Given the description of an element on the screen output the (x, y) to click on. 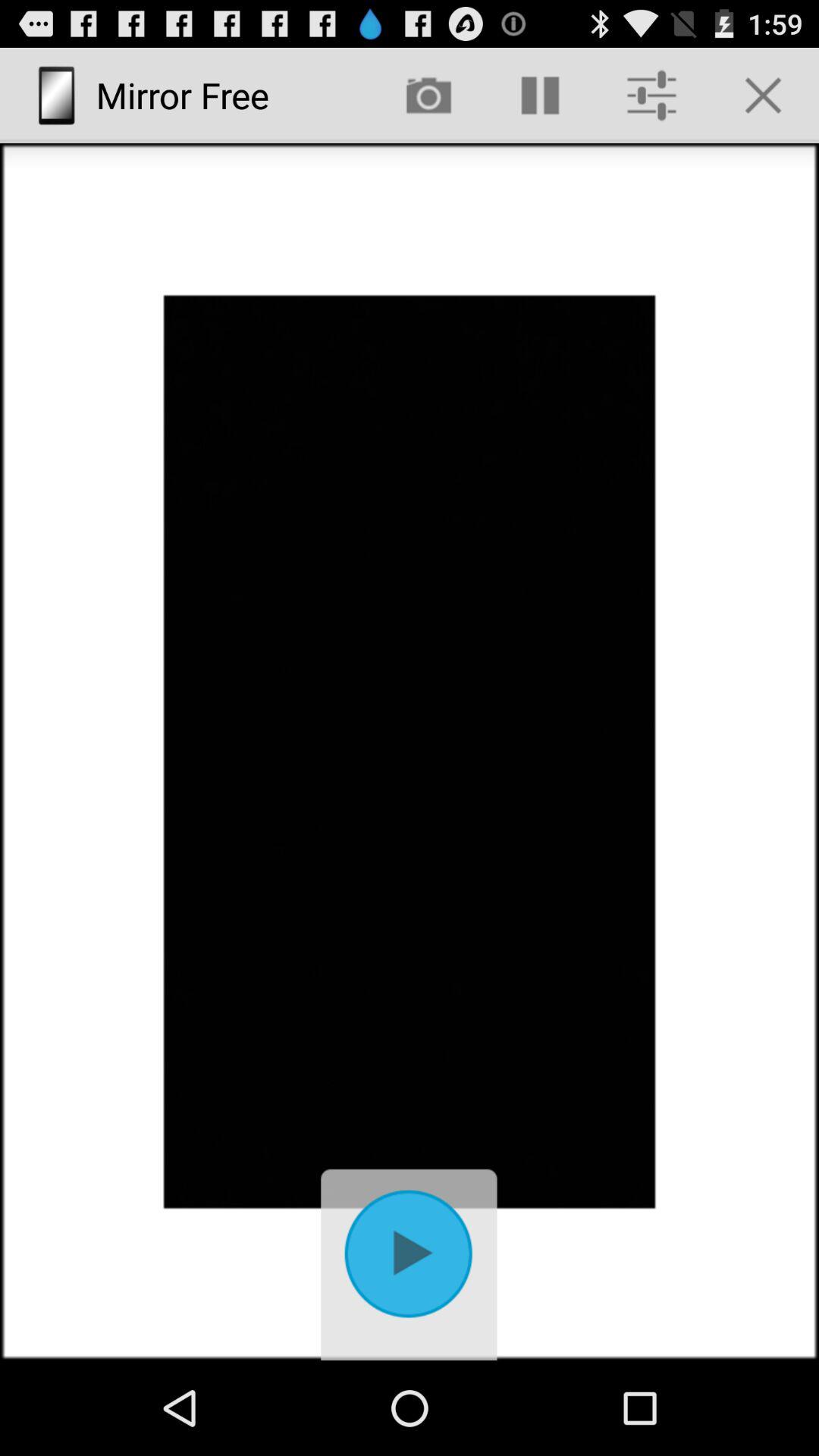
tap the item to the right of mirror free app (428, 95)
